Given the description of an element on the screen output the (x, y) to click on. 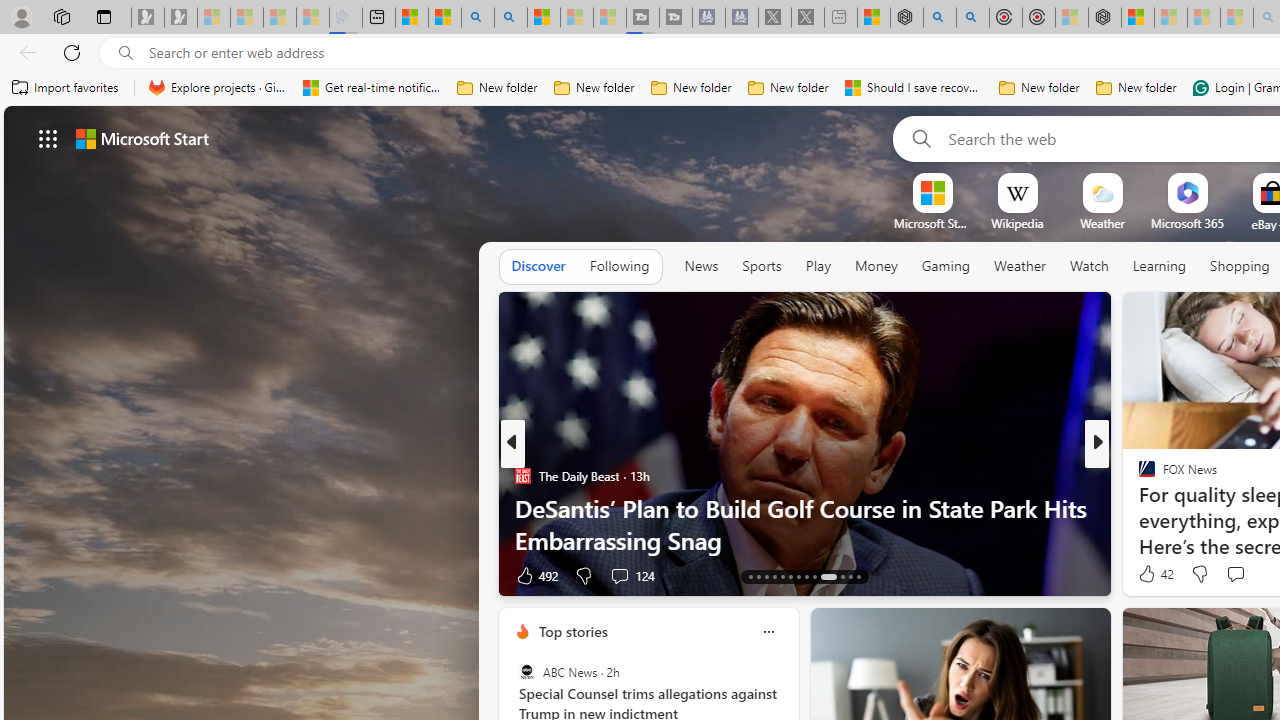
Gaming (945, 267)
News (701, 265)
AutomationID: tab-23 (842, 576)
Microsoft Start - Sleeping (576, 17)
42 Like (1154, 574)
The Daily Beast (522, 475)
AutomationID: tab-17 (782, 576)
Dislike (1199, 574)
Microsoft start (142, 138)
492 Like (535, 574)
